Given the description of an element on the screen output the (x, y) to click on. 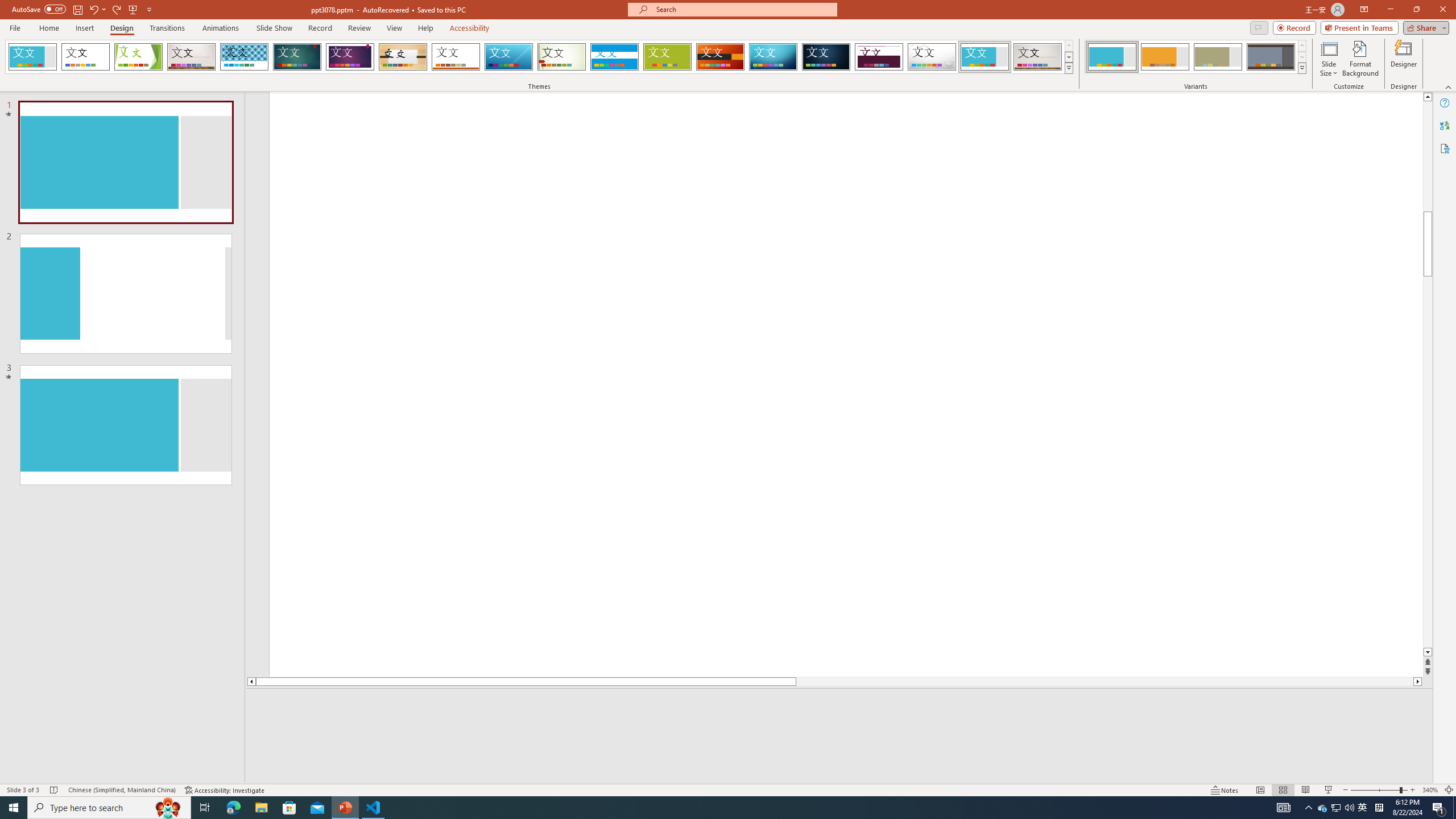
Damask (826, 56)
Banded (614, 56)
Variants (1301, 67)
Office Theme (85, 56)
